Given the description of an element on the screen output the (x, y) to click on. 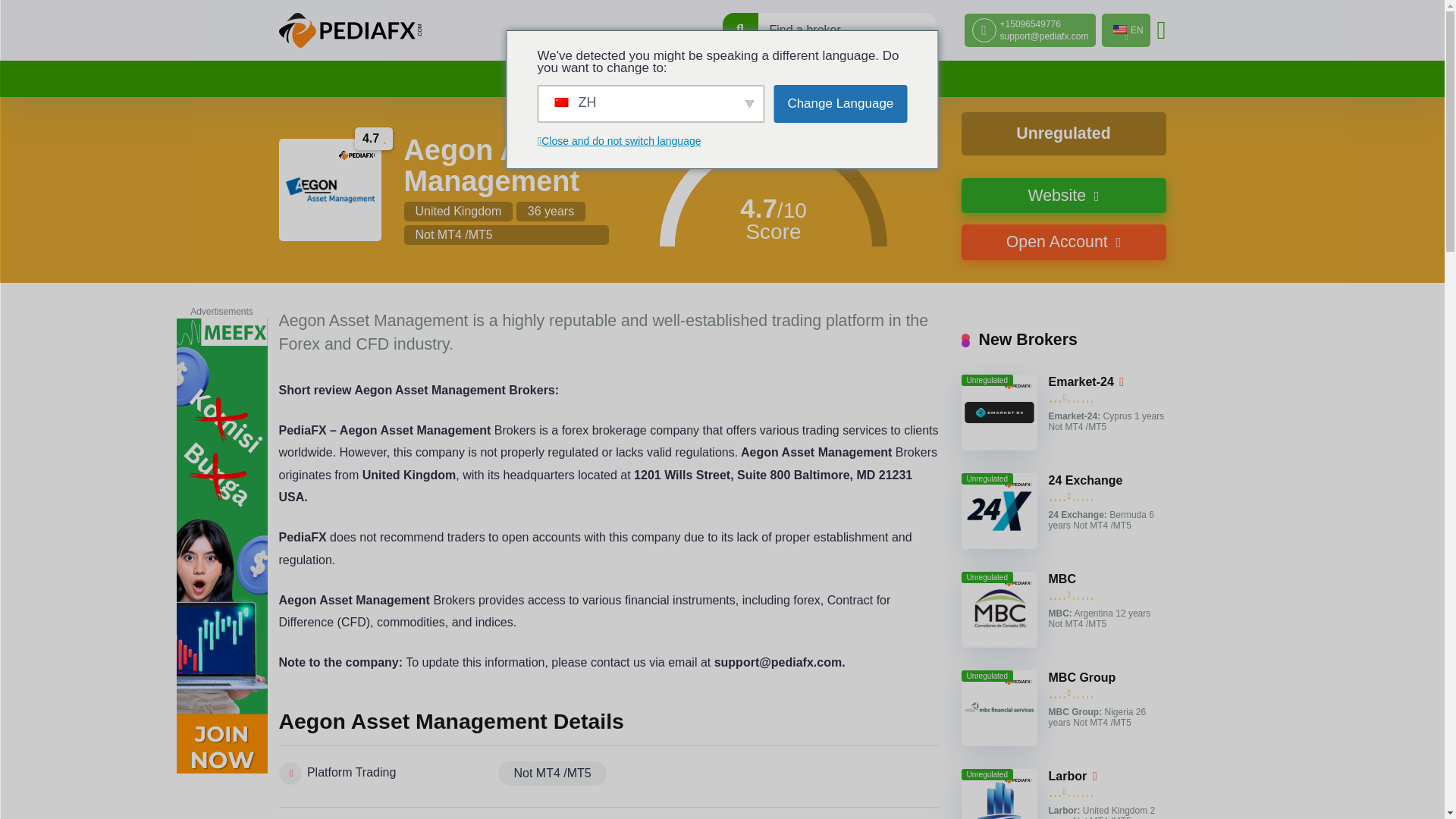
Emarket-24 (1080, 382)
EN (1126, 29)
Open Account (1063, 242)
Contact us (891, 78)
Website (1063, 195)
MBC Group (1081, 677)
PediaFX - Global online broker review service (350, 30)
Economic Calendar (785, 78)
Open Account (1063, 242)
Website (1063, 195)
Rangking (605, 78)
English (1119, 29)
MBC (1061, 579)
24 Exchange (1085, 480)
Hot News (681, 78)
